Given the description of an element on the screen output the (x, y) to click on. 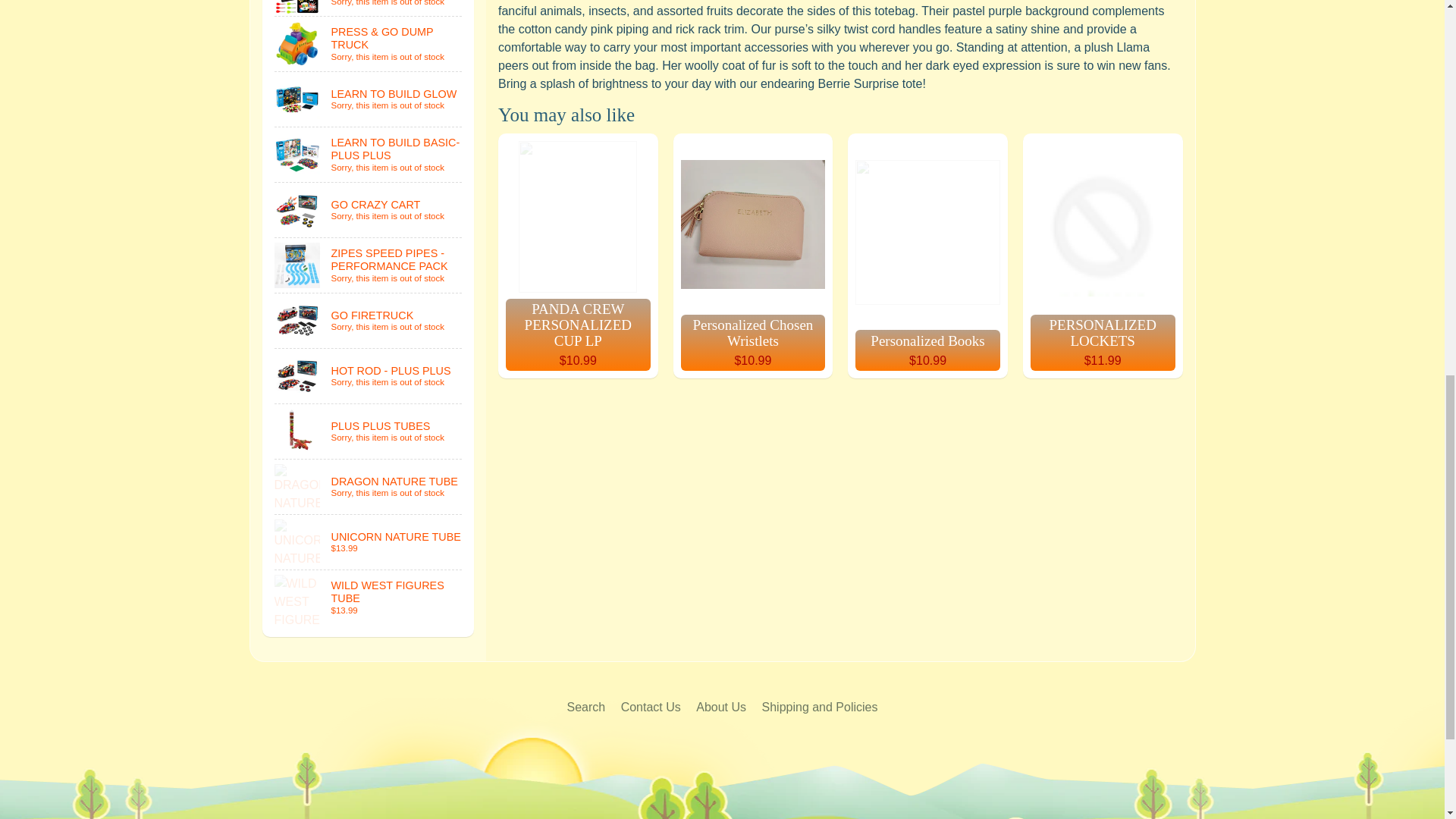
GO CRAZY CART (369, 209)
UNICORN NATURE TUBE (369, 542)
ZIPES SPEED PIPES - PERFORMANCE PACK (369, 265)
SUPER HERO DARTBOARD (369, 7)
GO FIRETRUCK (369, 320)
LEARN TO BUILD GLOW (369, 99)
LEARN TO BUILD BASIC- PLUS PLUS (369, 154)
WILD WEST FIGURES TUBE (369, 597)
PLUS PLUS TUBES (369, 431)
DRAGON NATURE TUBE (369, 486)
HOT ROD - PLUS PLUS (369, 375)
